Given the description of an element on the screen output the (x, y) to click on. 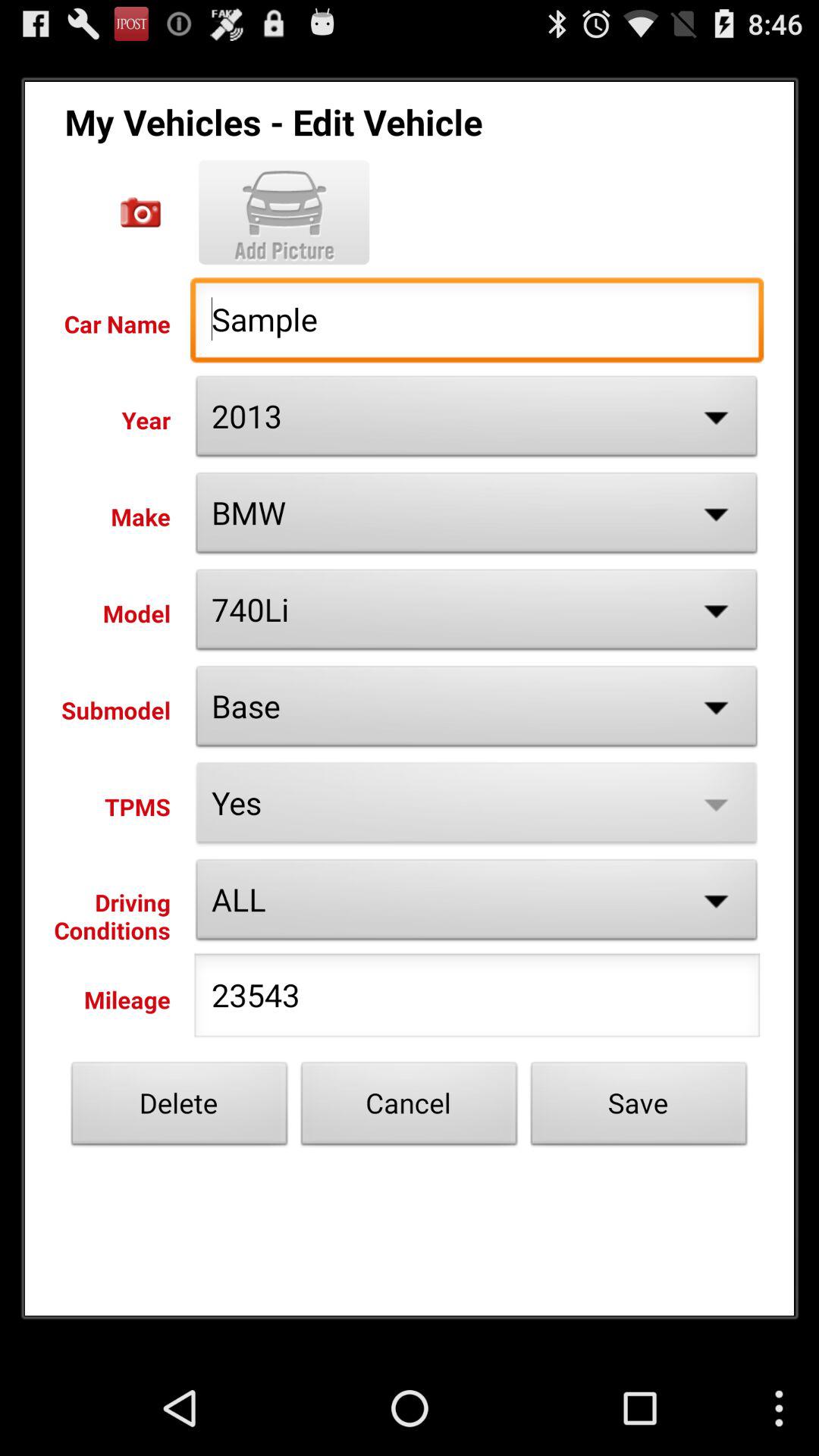
open camera to take photo of vehicle (140, 212)
